Given the description of an element on the screen output the (x, y) to click on. 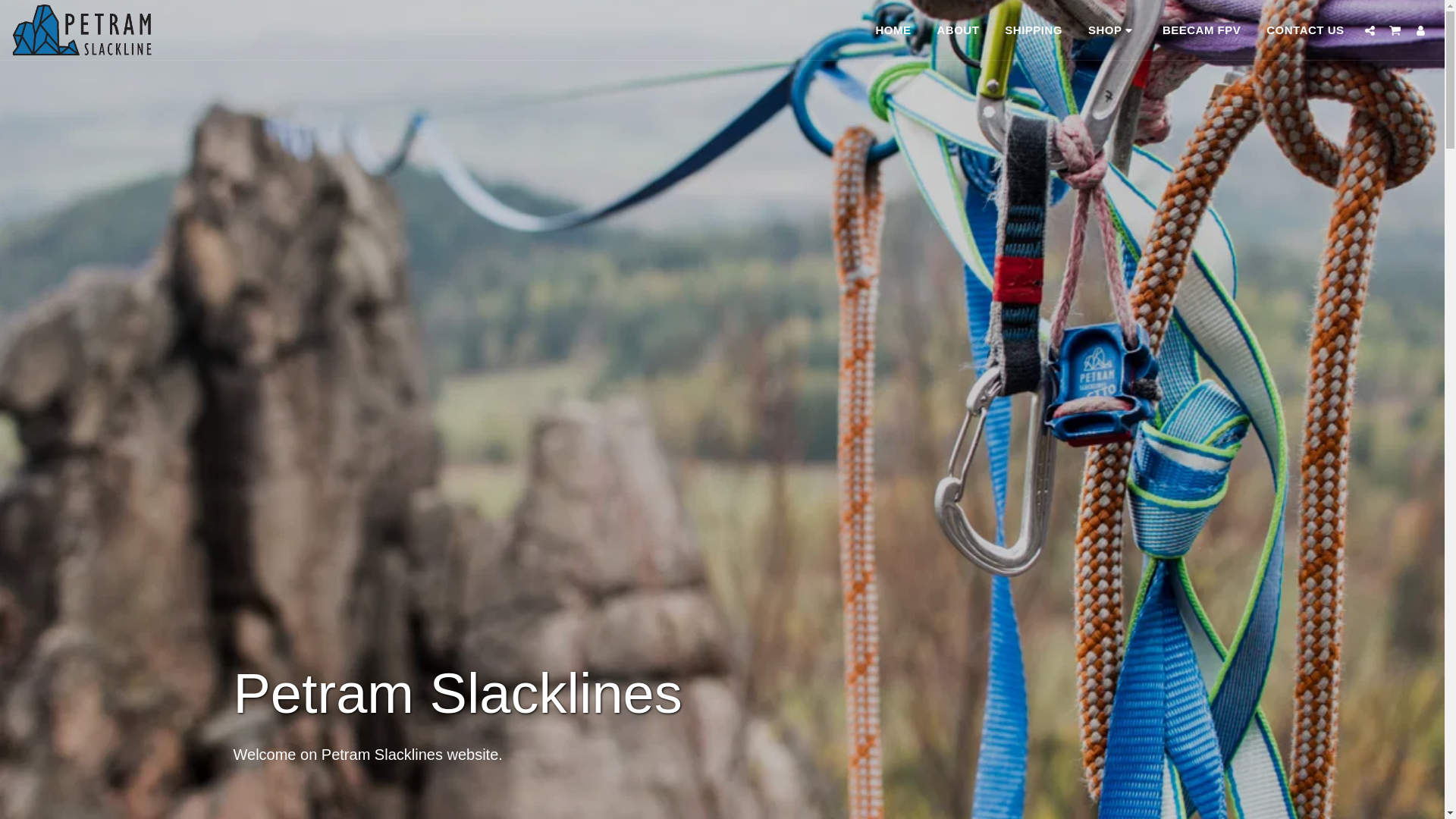
BEECAM FPV (1201, 29)
HOME (893, 29)
SHOP   (1111, 29)
CONTACT US (1304, 29)
ABOUT (957, 29)
SHIPPING (1033, 29)
